Given the description of an element on the screen output the (x, y) to click on. 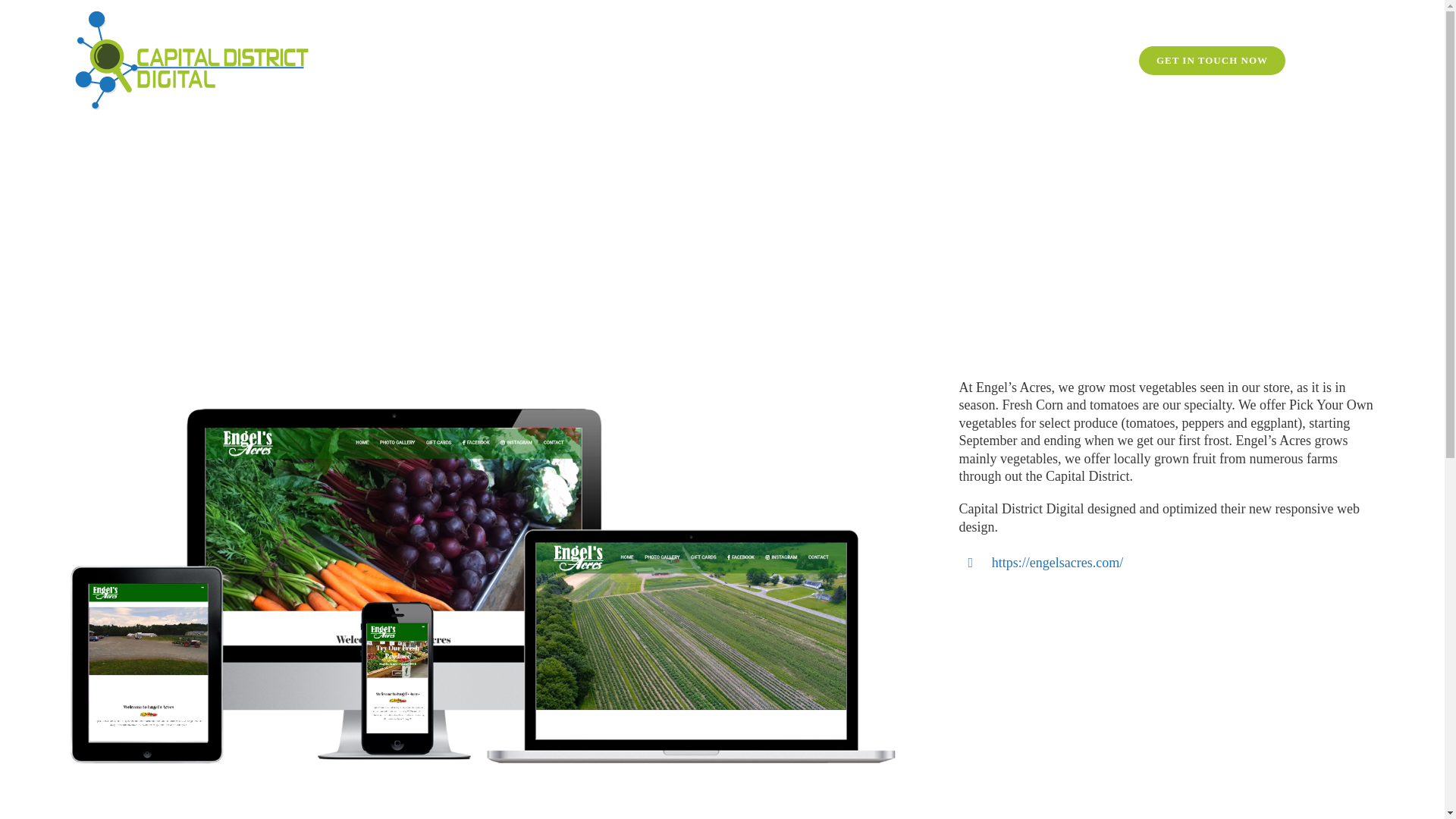
GET IN TOUCH NOW (1212, 60)
